Given the description of an element on the screen output the (x, y) to click on. 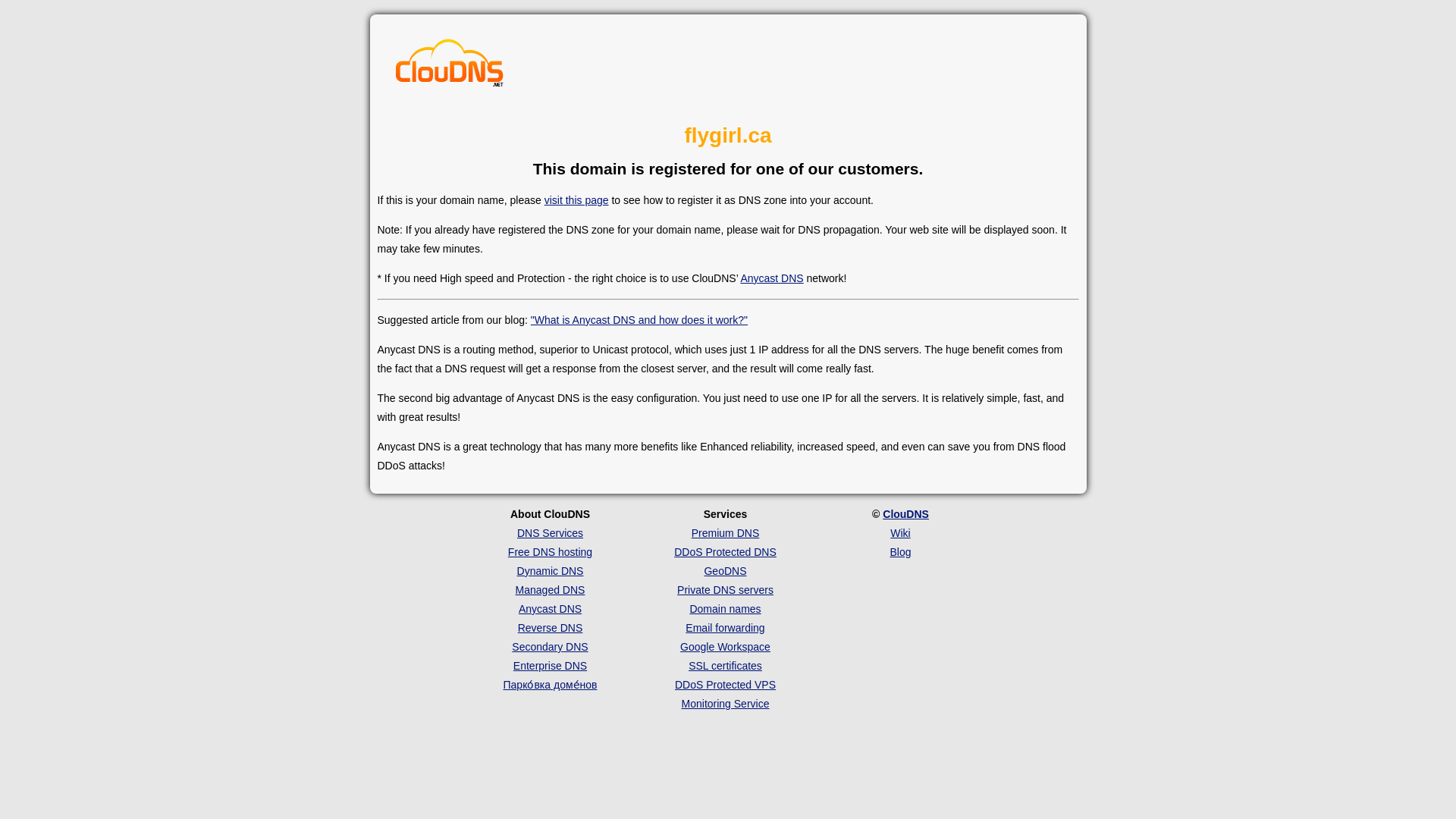
ClouDNS (905, 513)
DDoS Protected DNS (725, 551)
Private DNS servers (725, 589)
Monitoring Service (725, 703)
Blog (900, 551)
"What is Anycast DNS and how does it work?" (639, 319)
Cloud DNS (449, 66)
Wiki (899, 532)
DNS Services (549, 532)
Dynamic DNS (549, 571)
Enterprise DNS (549, 665)
GeoDNS (724, 571)
Premium DNS (724, 532)
Reverse DNS (550, 627)
Domain names (724, 608)
